Given the description of an element on the screen output the (x, y) to click on. 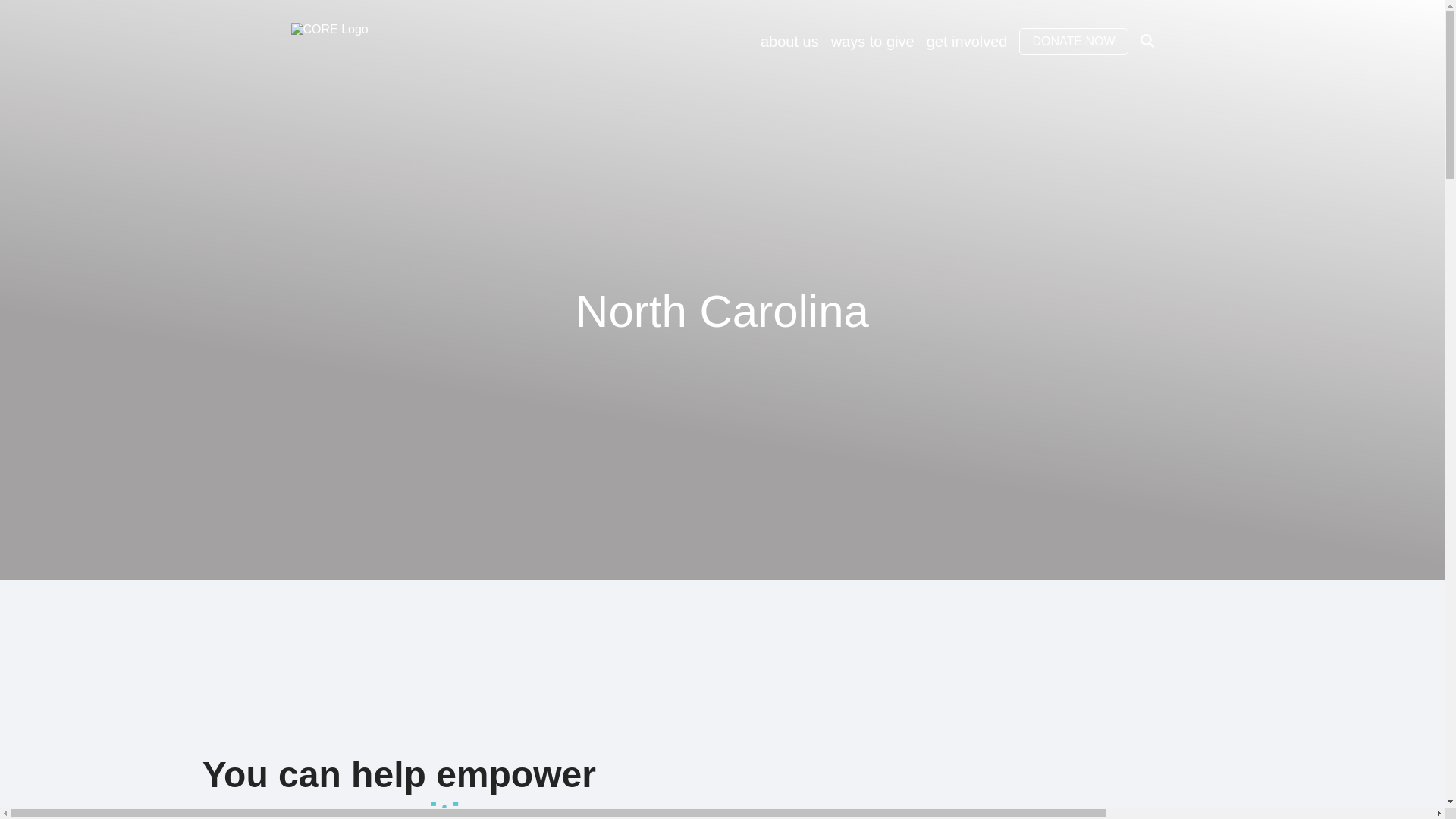
ways to give (872, 41)
CORE (356, 41)
DONATE NOW (1072, 40)
get involved (966, 41)
about us (789, 41)
Search Icon (1147, 39)
